Given the description of an element on the screen output the (x, y) to click on. 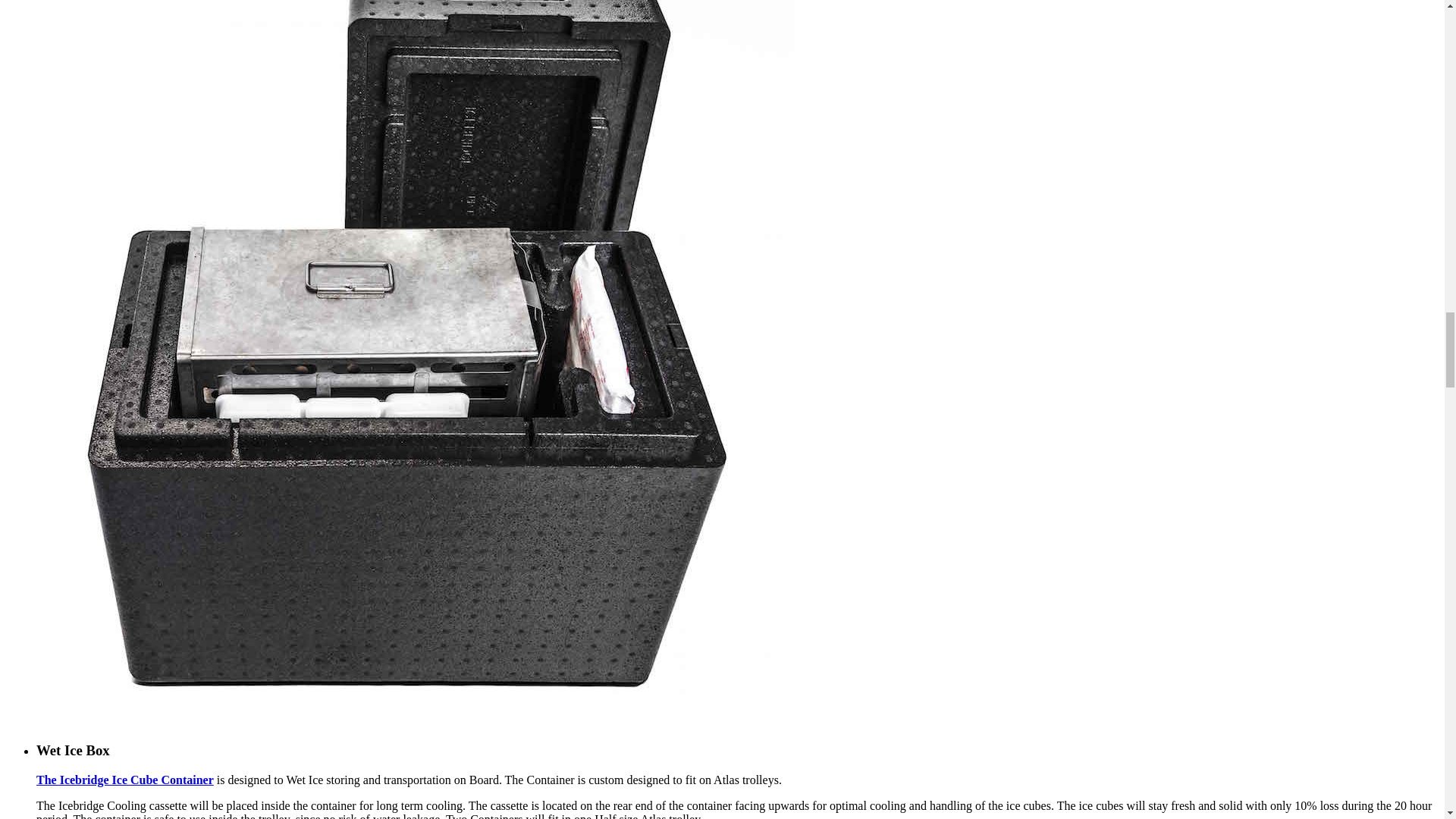
The Icebridge Ice Cube Container (125, 779)
